Given the description of an element on the screen output the (x, y) to click on. 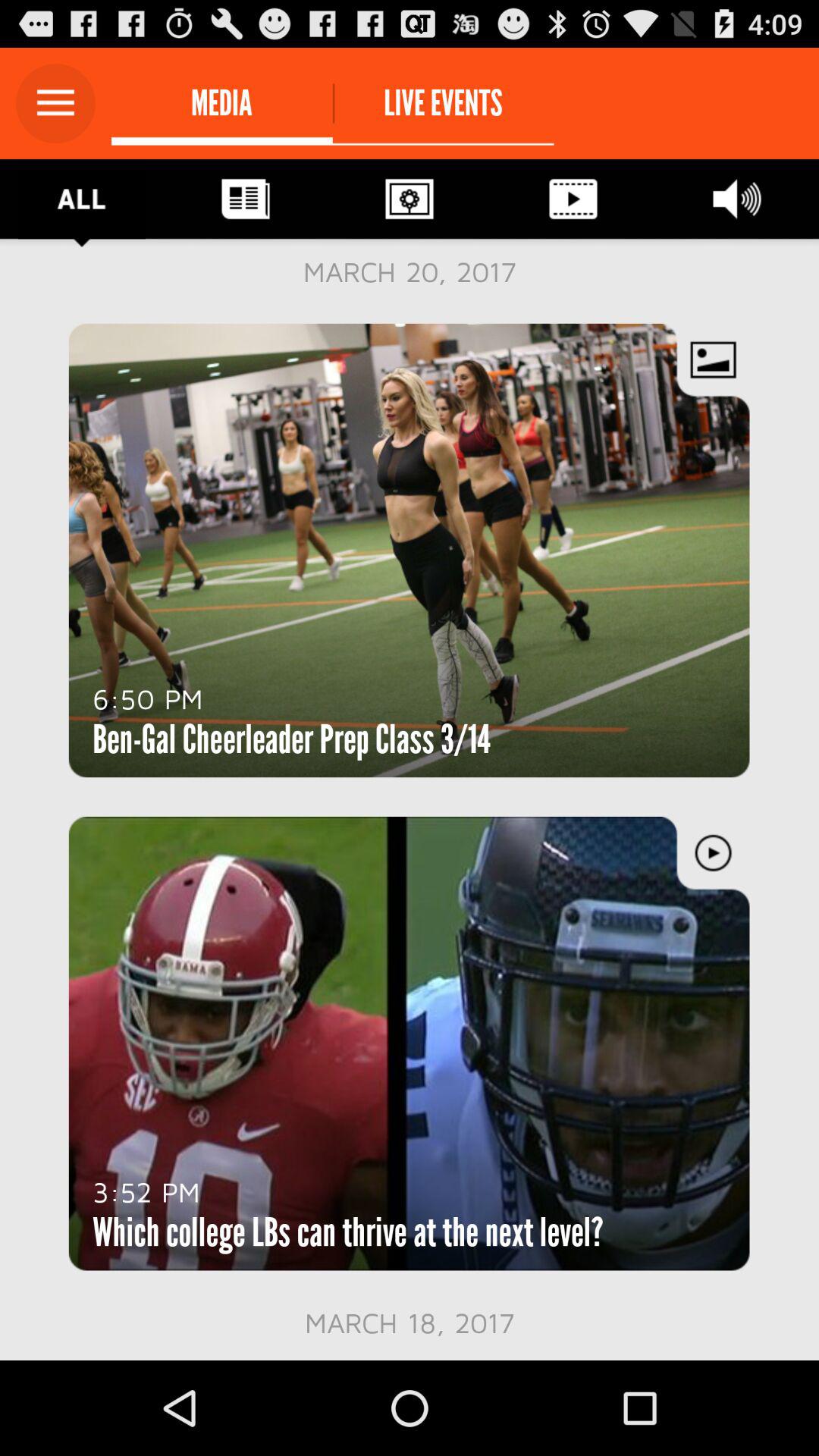
jump until the 6:50 pm icon (147, 698)
